Given the description of an element on the screen output the (x, y) to click on. 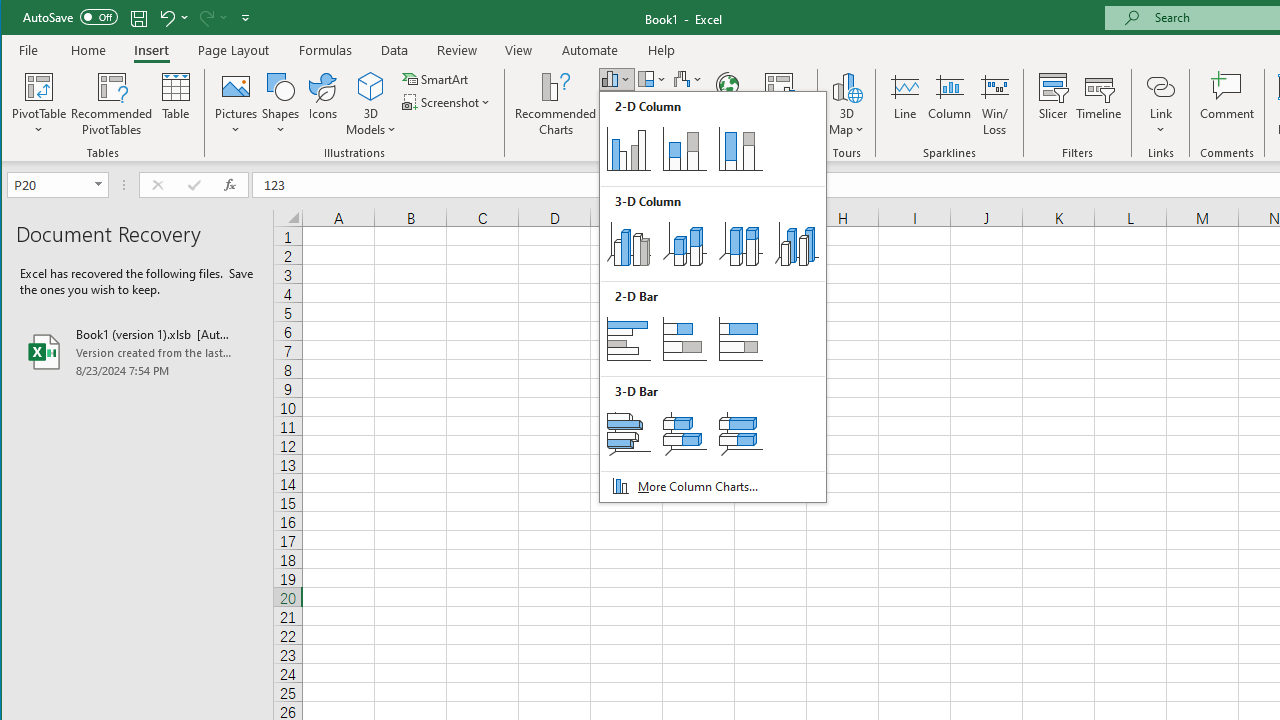
Data (395, 50)
Shapes (280, 104)
File Tab (29, 49)
Home (88, 50)
PivotTable (39, 104)
Name Box (57, 184)
System (19, 18)
Pictures (235, 104)
Quick Access Toolbar (137, 17)
Comment (1227, 104)
Help (661, 50)
Win/Loss (995, 104)
Link (1160, 86)
Insert (151, 50)
Column (949, 104)
